Given the description of an element on the screen output the (x, y) to click on. 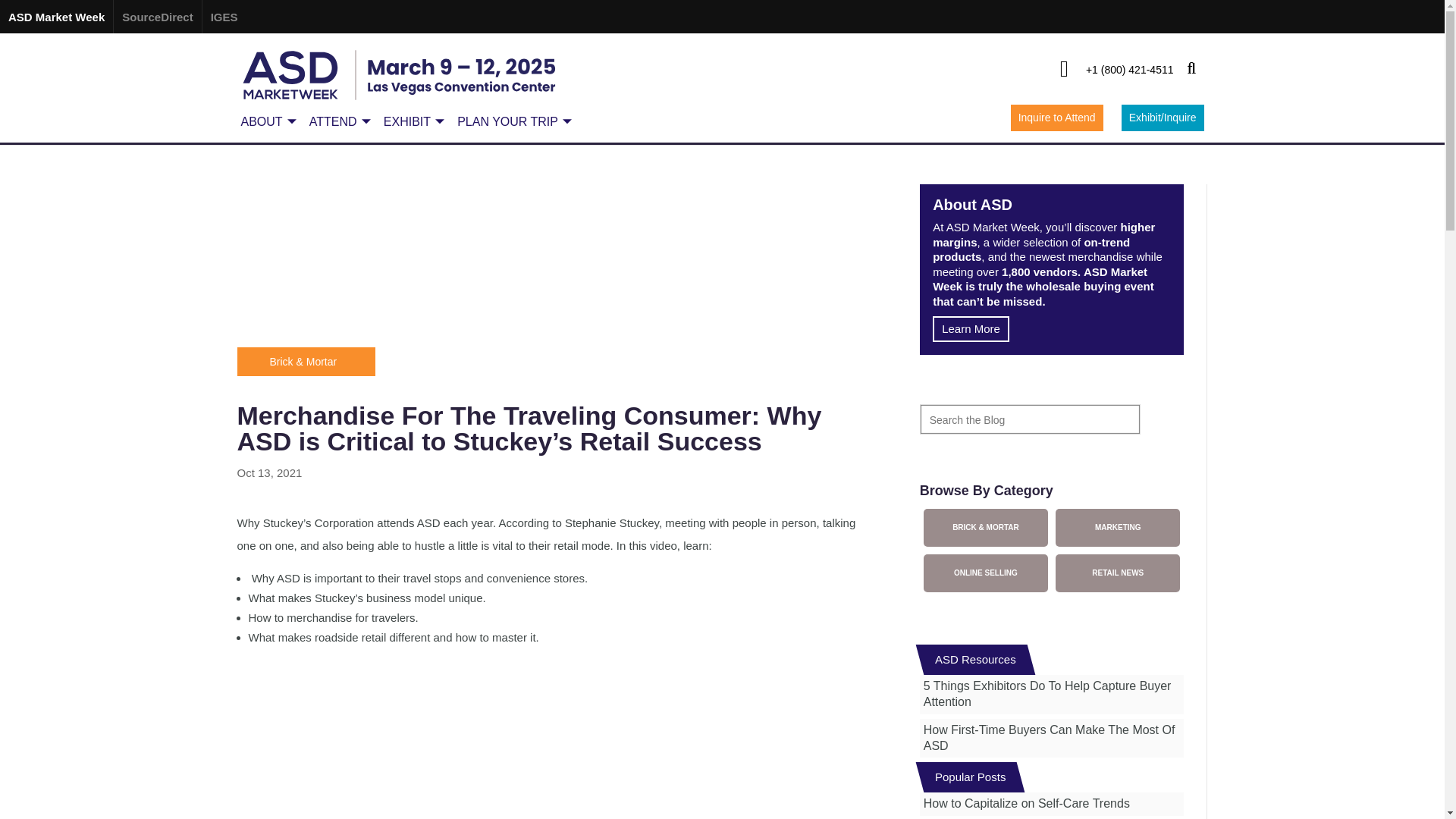
ASD Market Week (56, 16)
Inquire to Attend (1056, 117)
ABOUT (266, 121)
IGES (224, 16)
ATTEND (337, 121)
SourceDirect (156, 16)
PLAN YOUR TRIP (512, 121)
E-Commerce Platforms For Retailers (550, 252)
EXHIBIT (411, 121)
